Given the description of an element on the screen output the (x, y) to click on. 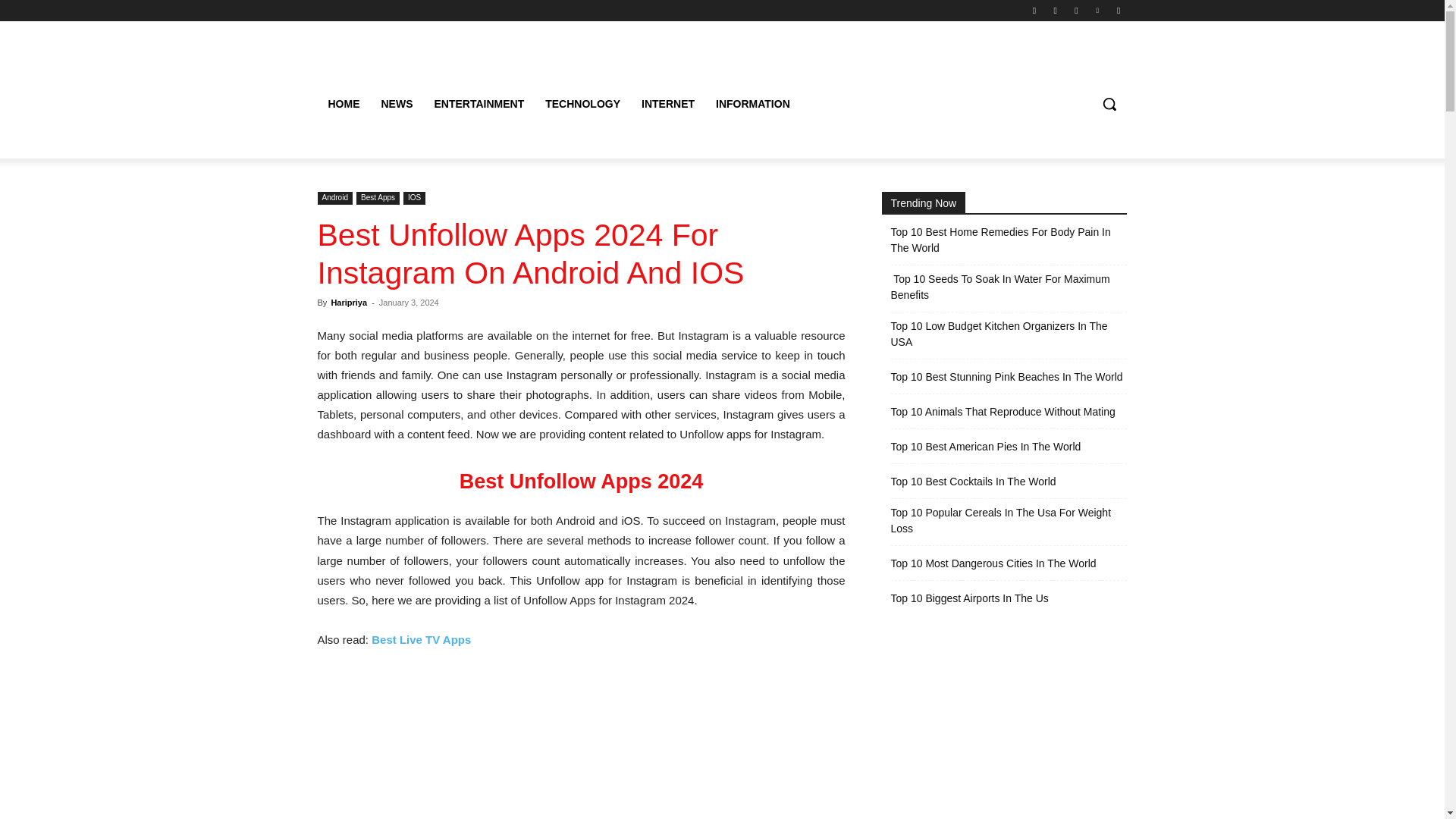
INTERNET (667, 103)
Best Apps (377, 197)
Facebook (1034, 9)
Vimeo (1097, 9)
Youtube (1117, 9)
Best Live TV Apps (420, 639)
Haripriya (348, 302)
NEWS (396, 103)
ENTERTAINMENT (478, 103)
IOS (414, 197)
